Given the description of an element on the screen output the (x, y) to click on. 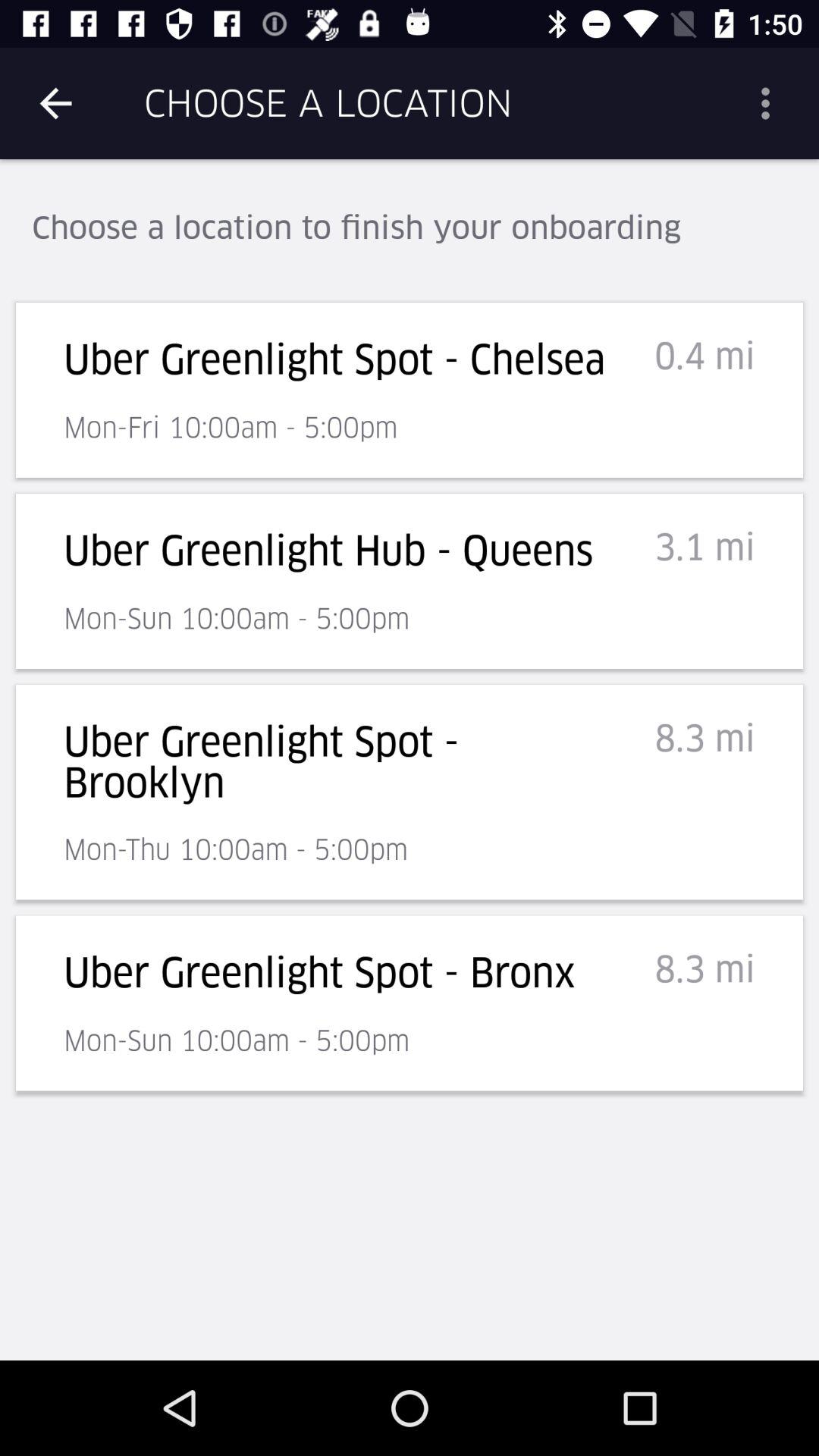
press the item to the right of choose a location item (771, 103)
